Given the description of an element on the screen output the (x, y) to click on. 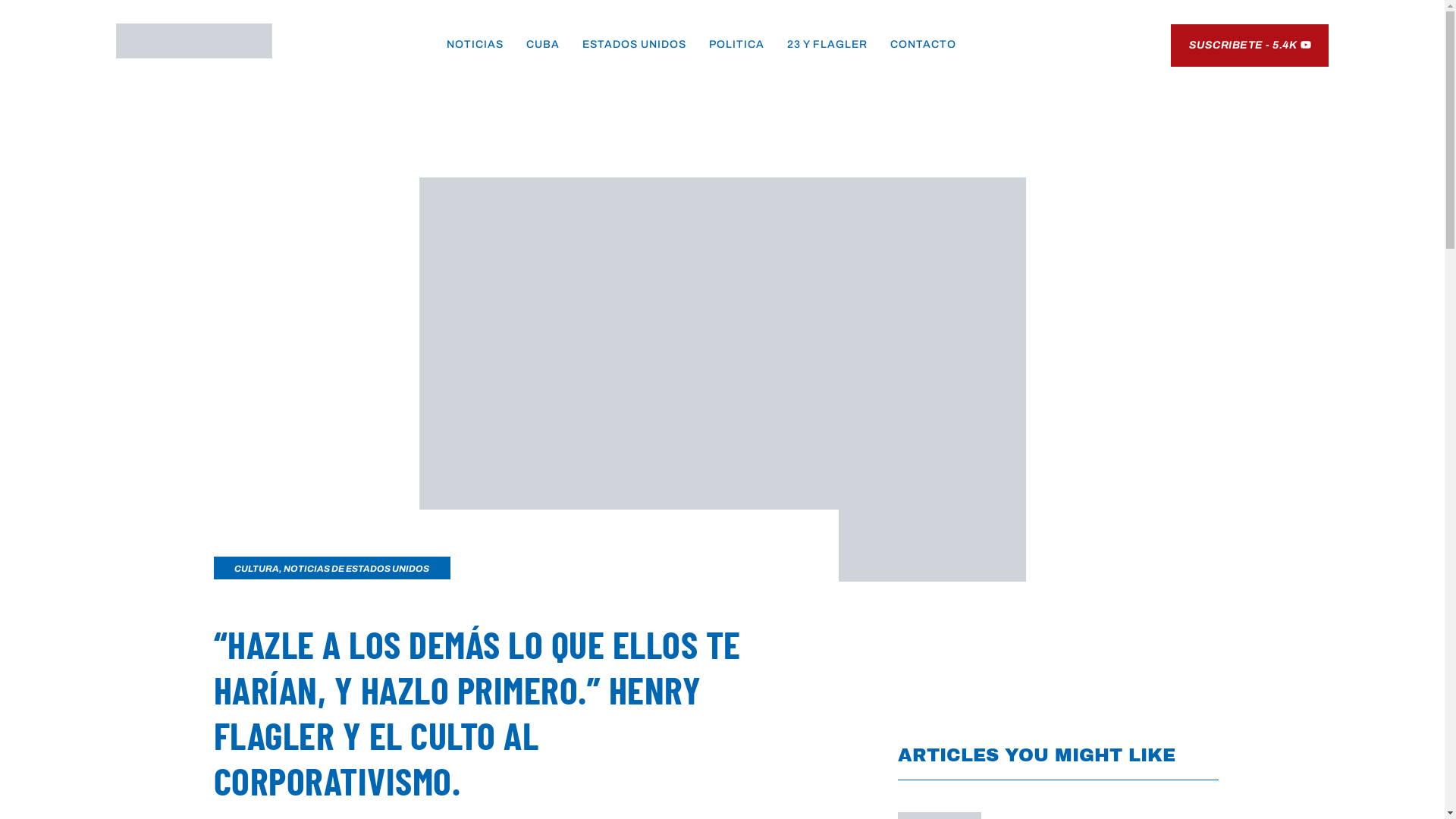
CONTACTO Element type: text (923, 44)
NOTICIAS Element type: text (474, 44)
23 Y FLAGLER Element type: text (827, 44)
ESTADOS UNIDOS Element type: text (634, 44)
CUBA Element type: text (542, 44)
SUSCRIBETE - 5.4K Element type: text (1249, 45)
POLITICA Element type: text (736, 44)
